Given the description of an element on the screen output the (x, y) to click on. 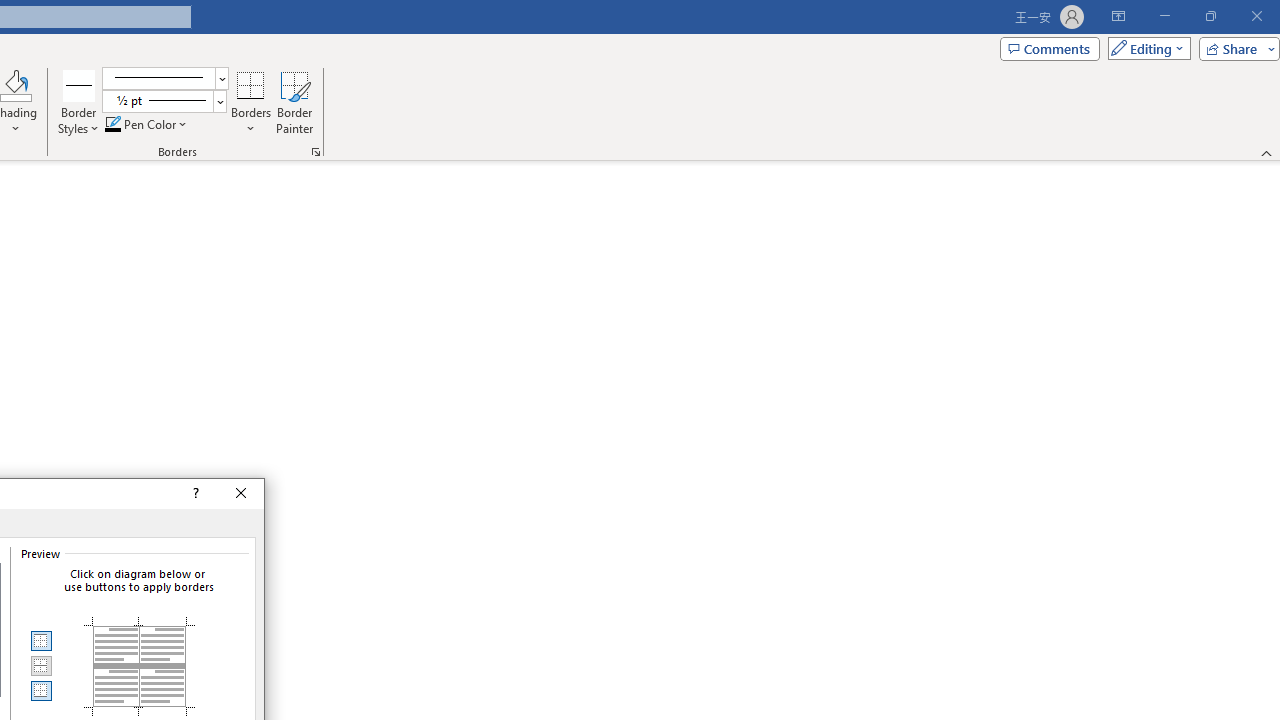
Comments (1049, 48)
Open (219, 101)
Inside Horizontal Border (40, 665)
Pen Color RGB(0, 0, 0) (113, 124)
Restore Down (1210, 16)
Borders and Shading... (315, 151)
Ribbon Display Options (1118, 16)
MSO Generic Control Container (40, 641)
Pen Style (165, 78)
Collapse the Ribbon (1267, 152)
Minimize (1164, 16)
Close (240, 493)
Border Painter (294, 102)
Editing (1144, 47)
